Given the description of an element on the screen output the (x, y) to click on. 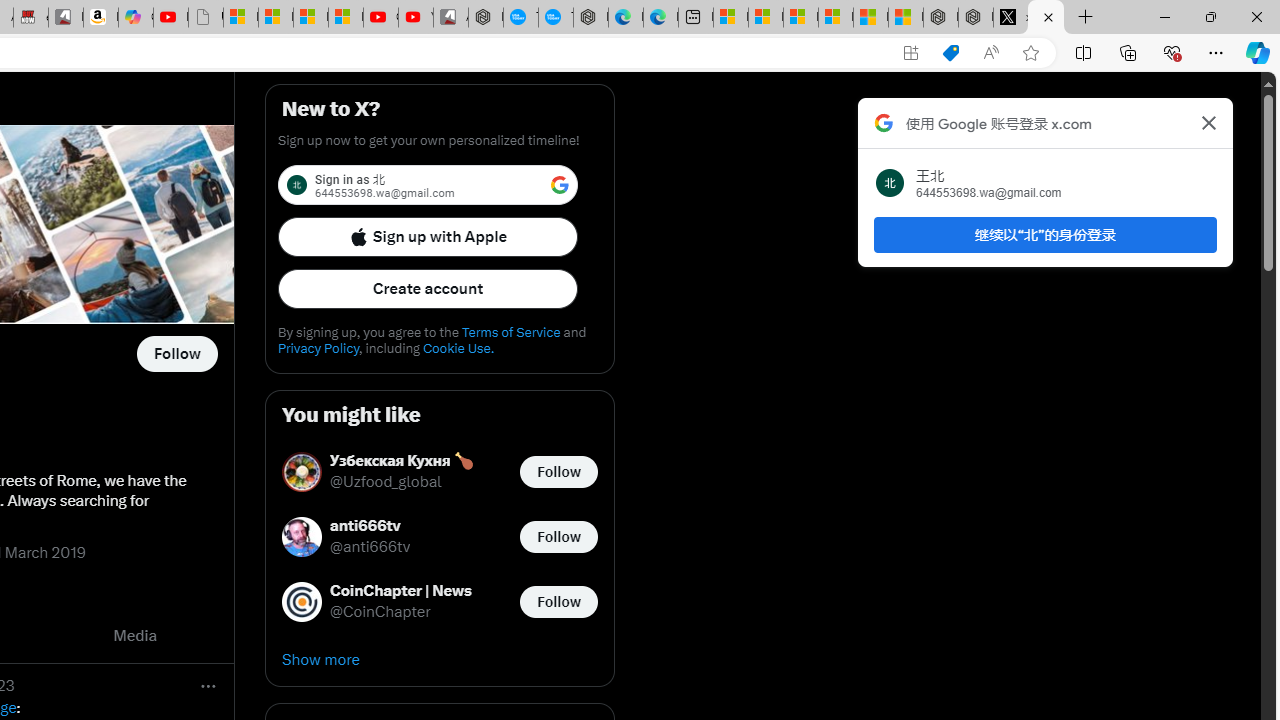
x.com/NordaceOfficial (1010, 17)
Shopping in Microsoft Edge (950, 53)
Privacy Policy (317, 348)
